Given the description of an element on the screen output the (x, y) to click on. 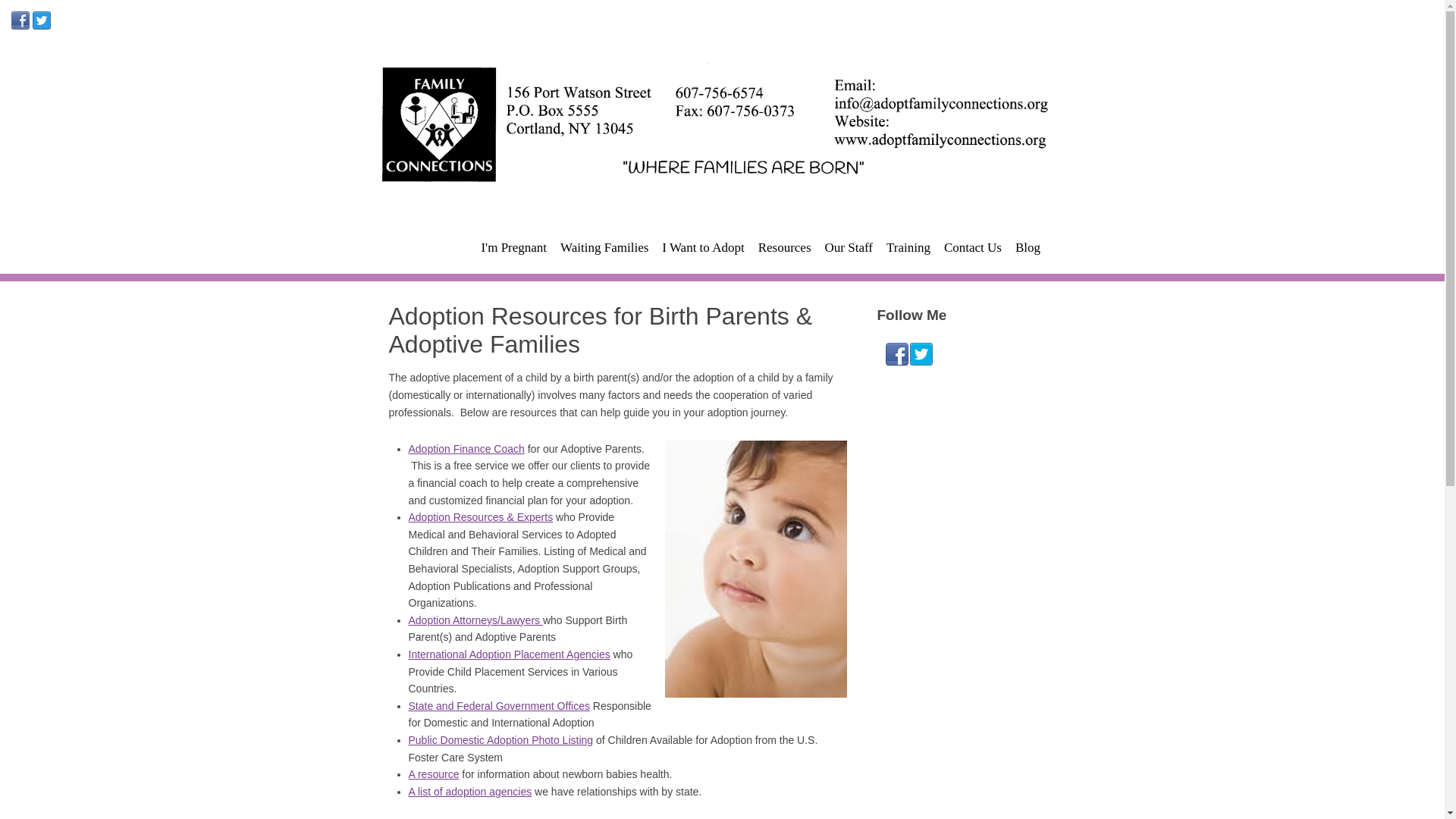
International Adoption Placement Agencies (508, 654)
I Want to Adopt (703, 247)
Public Domestic Adoption Photo Listing (499, 739)
Resources (784, 247)
I'm Pregnant (513, 247)
A resource (432, 774)
Follow us on Twitter (920, 354)
Contact Us (973, 247)
Adoption Finance Coach (465, 449)
State and Federal Government Offices (498, 705)
Our Staff (848, 247)
State and Federal Government Offices (498, 705)
Public Domestic Adoption Photo Listing (499, 739)
Training (908, 247)
Follow us on Facebook (895, 354)
